Given the description of an element on the screen output the (x, y) to click on. 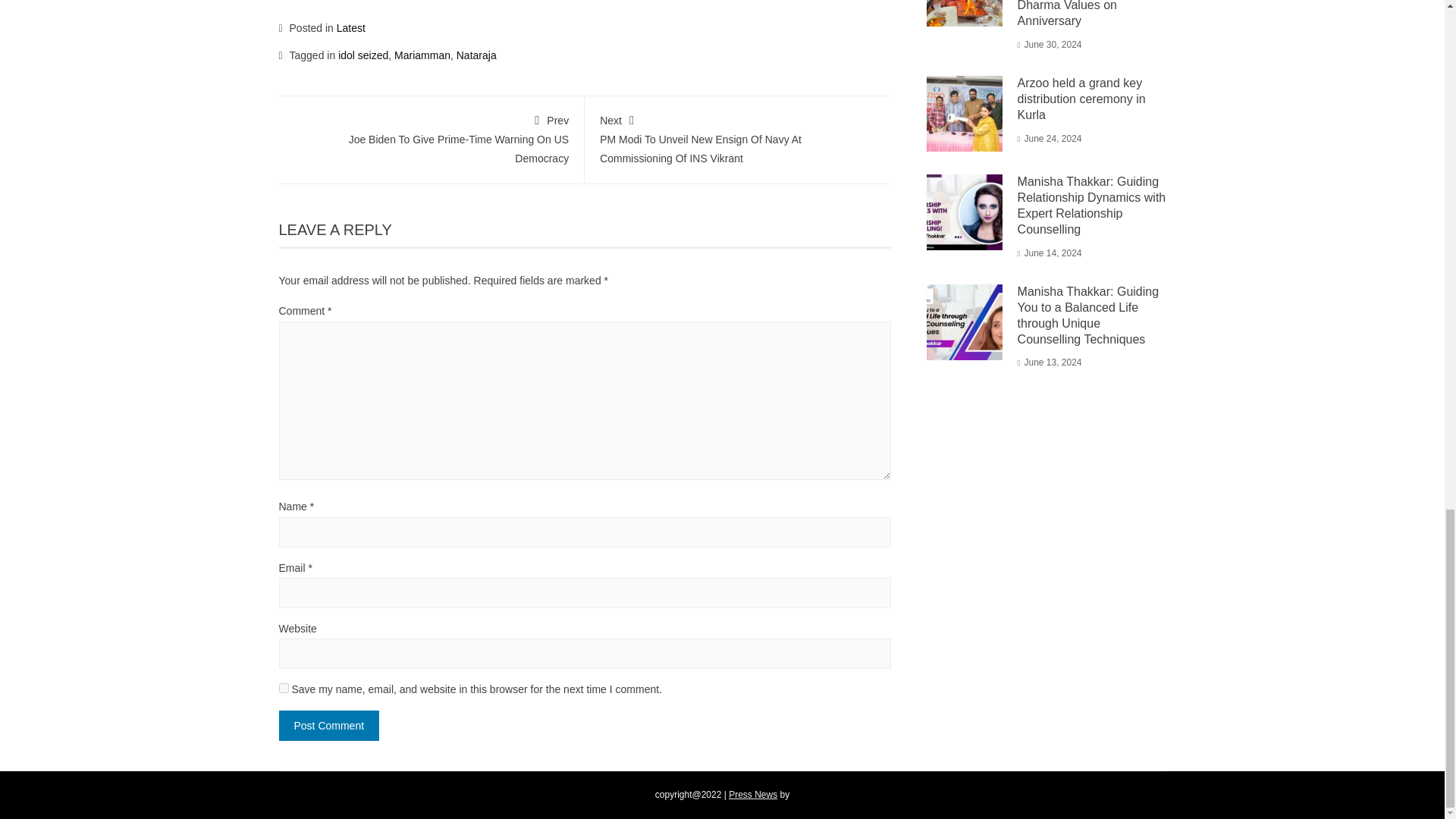
idol seized (362, 54)
yes (283, 687)
Arzoo held a grand key distribution ceremony in Kurla (1081, 98)
Post Comment (329, 725)
Download Press News (753, 794)
Latest (350, 28)
